Given the description of an element on the screen output the (x, y) to click on. 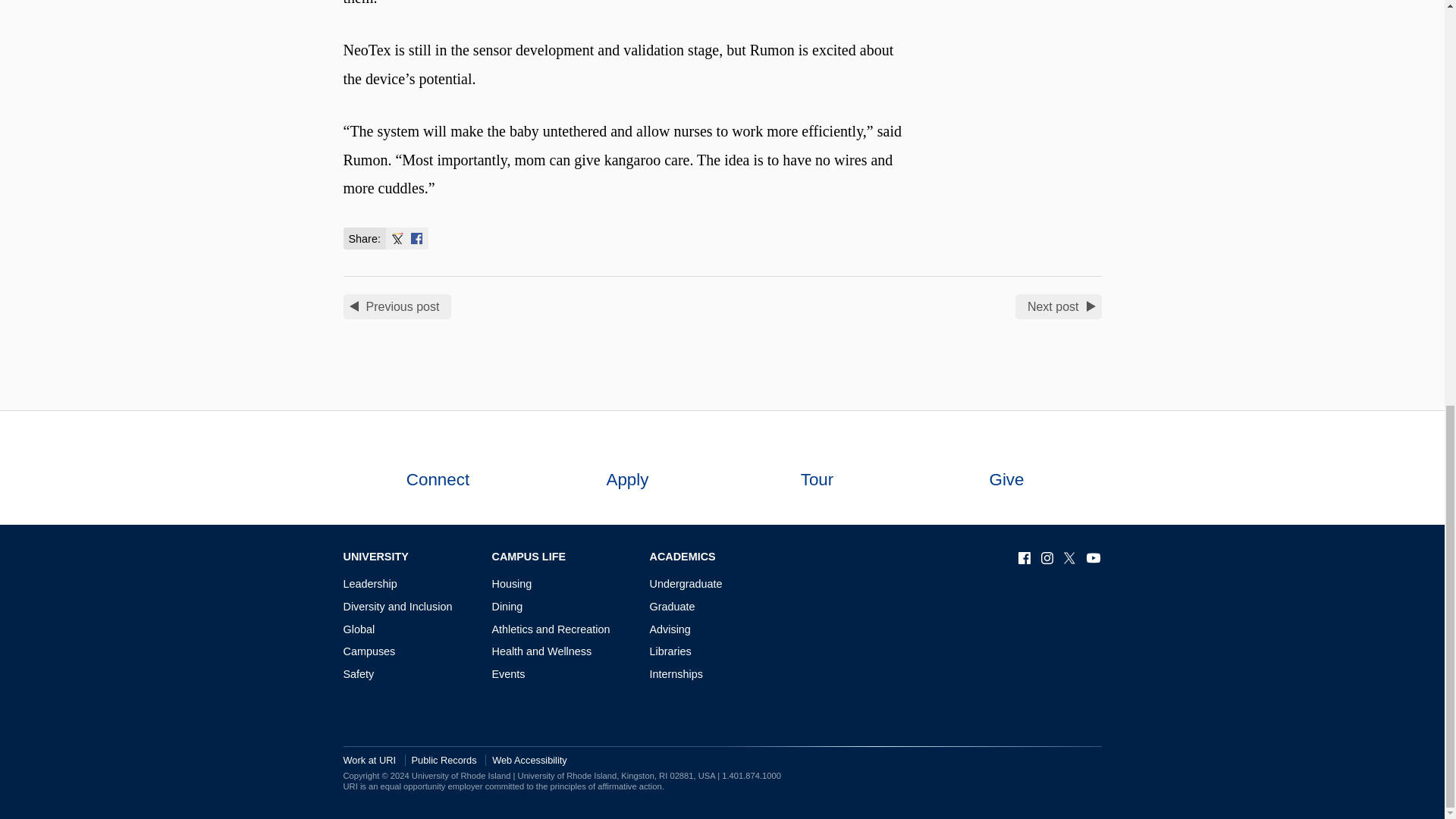
Share on Twitter (397, 238)
Safety (358, 674)
Tour (816, 467)
Connect (437, 467)
Campuses (368, 651)
Twitter (397, 238)
Facebook (416, 238)
Leadership (369, 583)
X (1070, 558)
Diversity and Inclusion (396, 606)
